Given the description of an element on the screen output the (x, y) to click on. 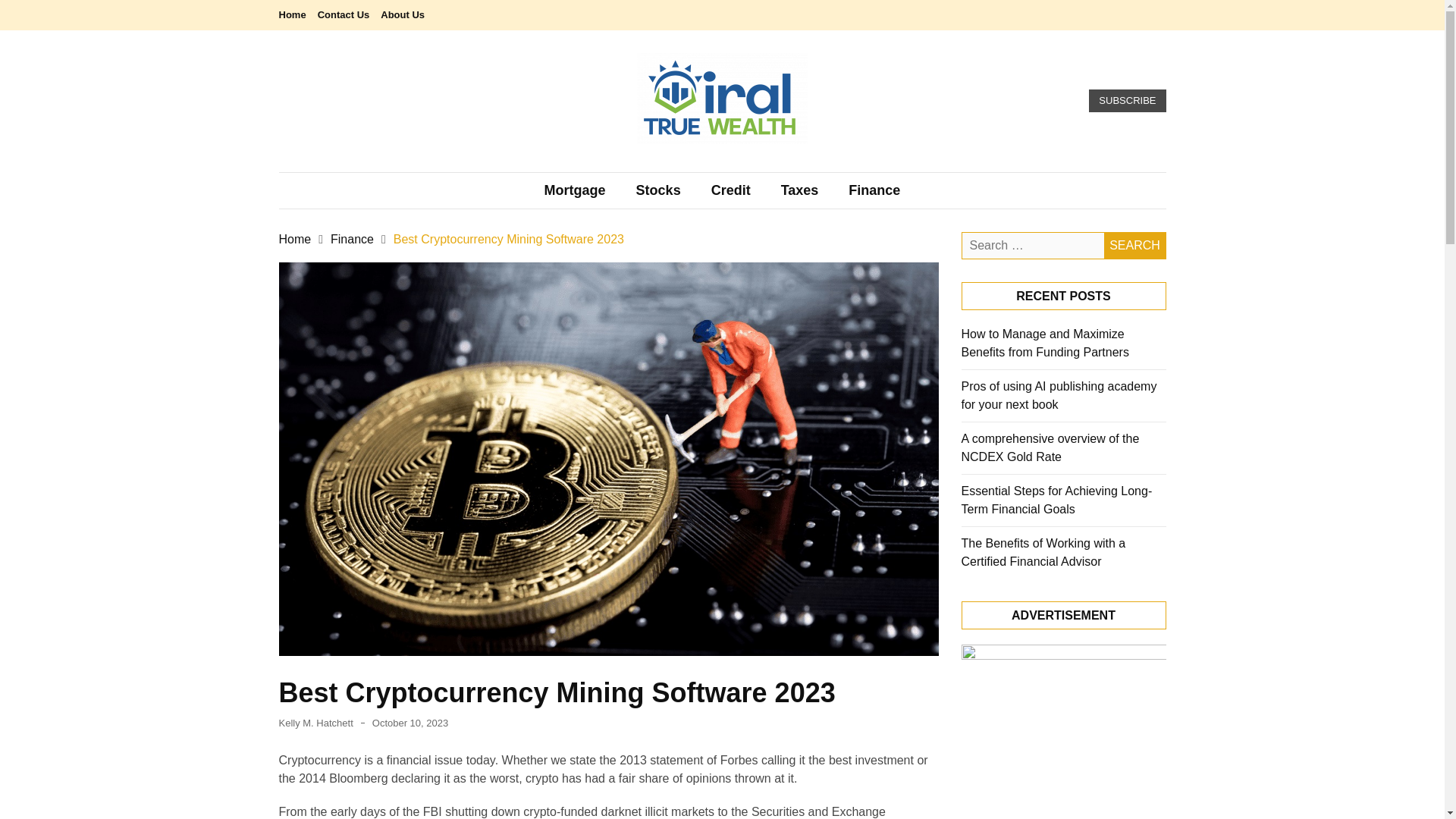
SUBSCRIBE (1127, 100)
Kelly M. Hatchett (316, 722)
Viral True Wealth (616, 164)
Home (295, 237)
Mortgage (575, 190)
October 10, 2023 (410, 722)
Finance (873, 190)
Best Cryptocurrency Mining Software 2023 (508, 237)
Contact Us (343, 14)
Search (1134, 245)
